Given the description of an element on the screen output the (x, y) to click on. 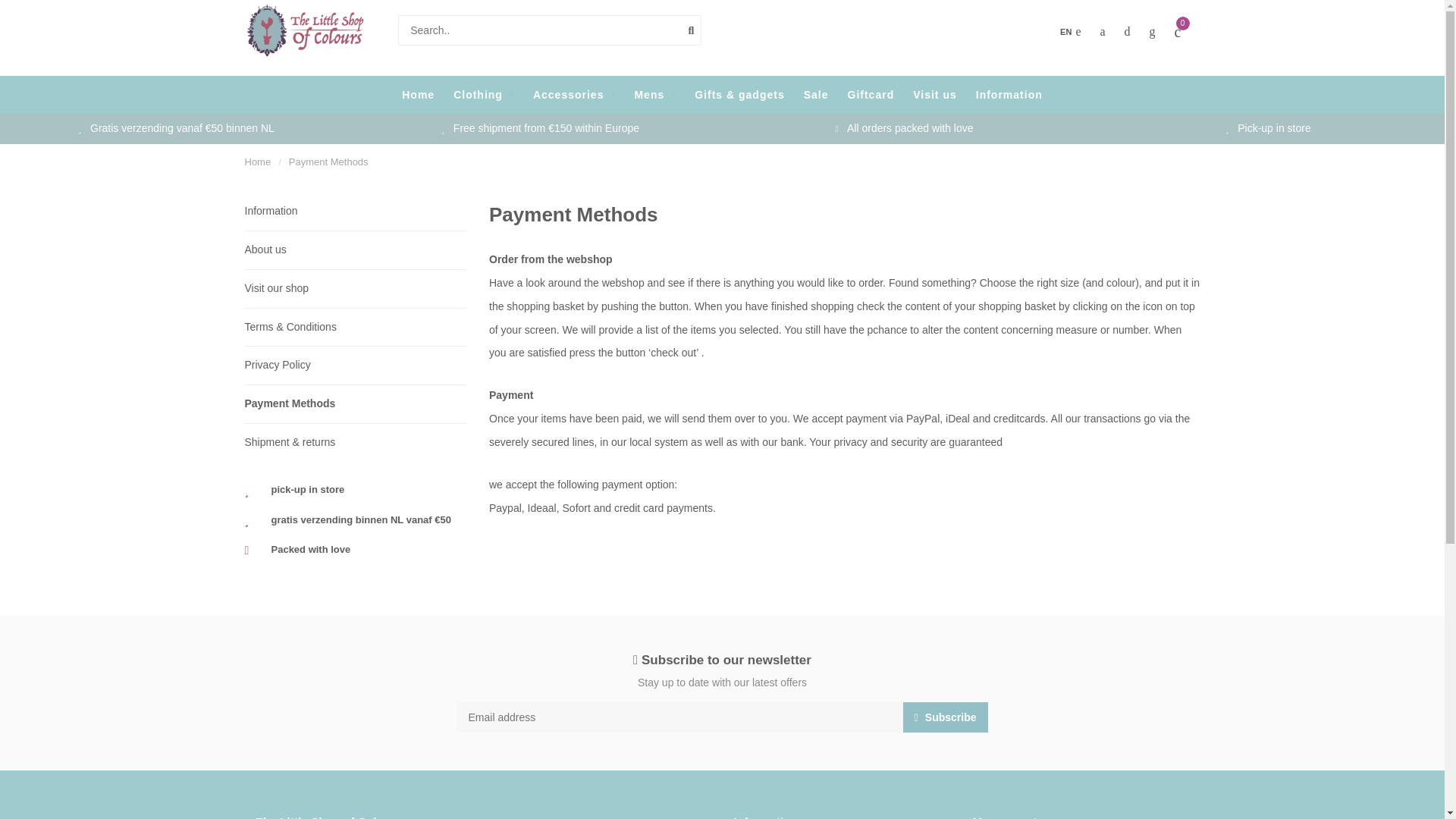
Home (257, 161)
Information (1008, 94)
Privacy Policy (354, 365)
Accessories (573, 94)
Payment Methods (328, 161)
Visit us (934, 94)
Clothing (482, 94)
Home (257, 161)
Visit our shop (354, 288)
Information (354, 211)
Payment Methods (354, 403)
Mens (654, 94)
EN (1069, 31)
Giftcard (871, 94)
About us (354, 249)
